Given the description of an element on the screen output the (x, y) to click on. 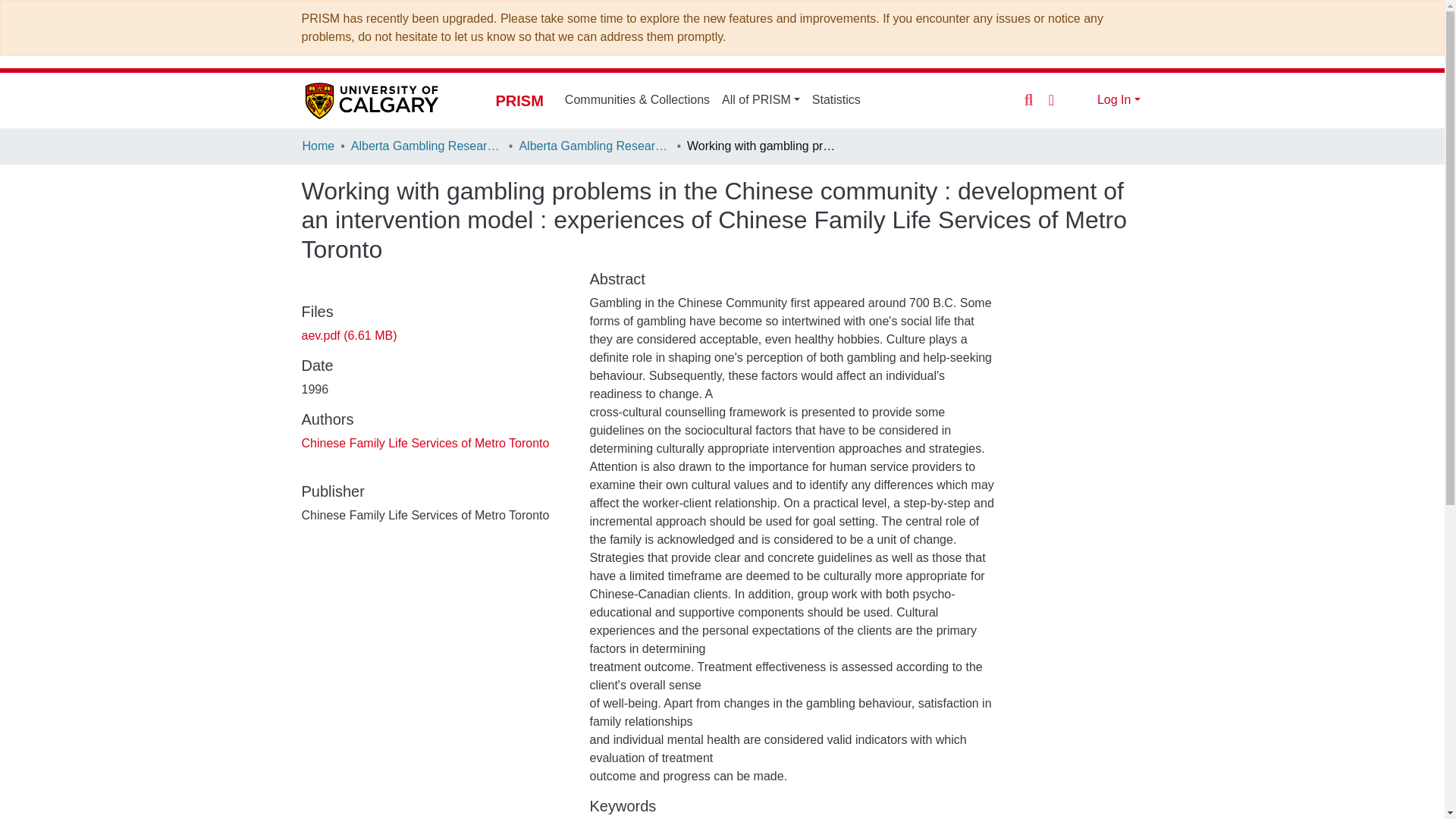
PRISM (519, 100)
Language switch (1051, 99)
All of PRISM (761, 100)
Home (317, 146)
Statistics (836, 100)
Chinese Family Life Services of Metro Toronto (425, 442)
Alberta Gambling Research Institute (593, 146)
Statistics (836, 100)
Log In (1118, 99)
Search (1028, 100)
